Given the description of an element on the screen output the (x, y) to click on. 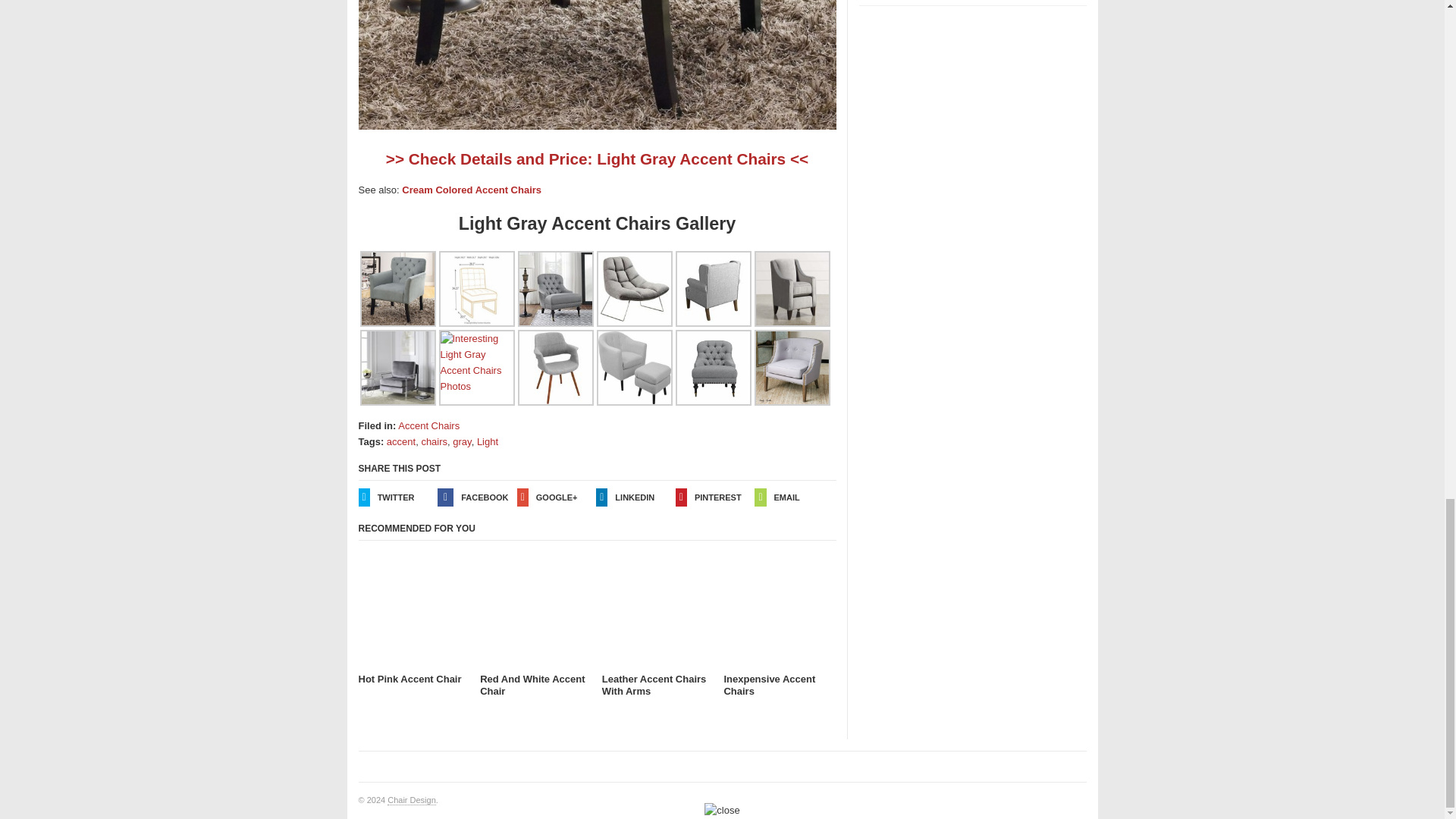
Accent Chairs (428, 425)
Light (487, 441)
LINKEDIN (635, 497)
Cream Colored Accent Chairs (471, 189)
Best Chair Design for Home or Office Furniture (411, 800)
EMAIL (794, 497)
TWITTER (398, 497)
gray (461, 441)
PINTEREST (715, 497)
FACEBOOK (477, 497)
